Given the description of an element on the screen output the (x, y) to click on. 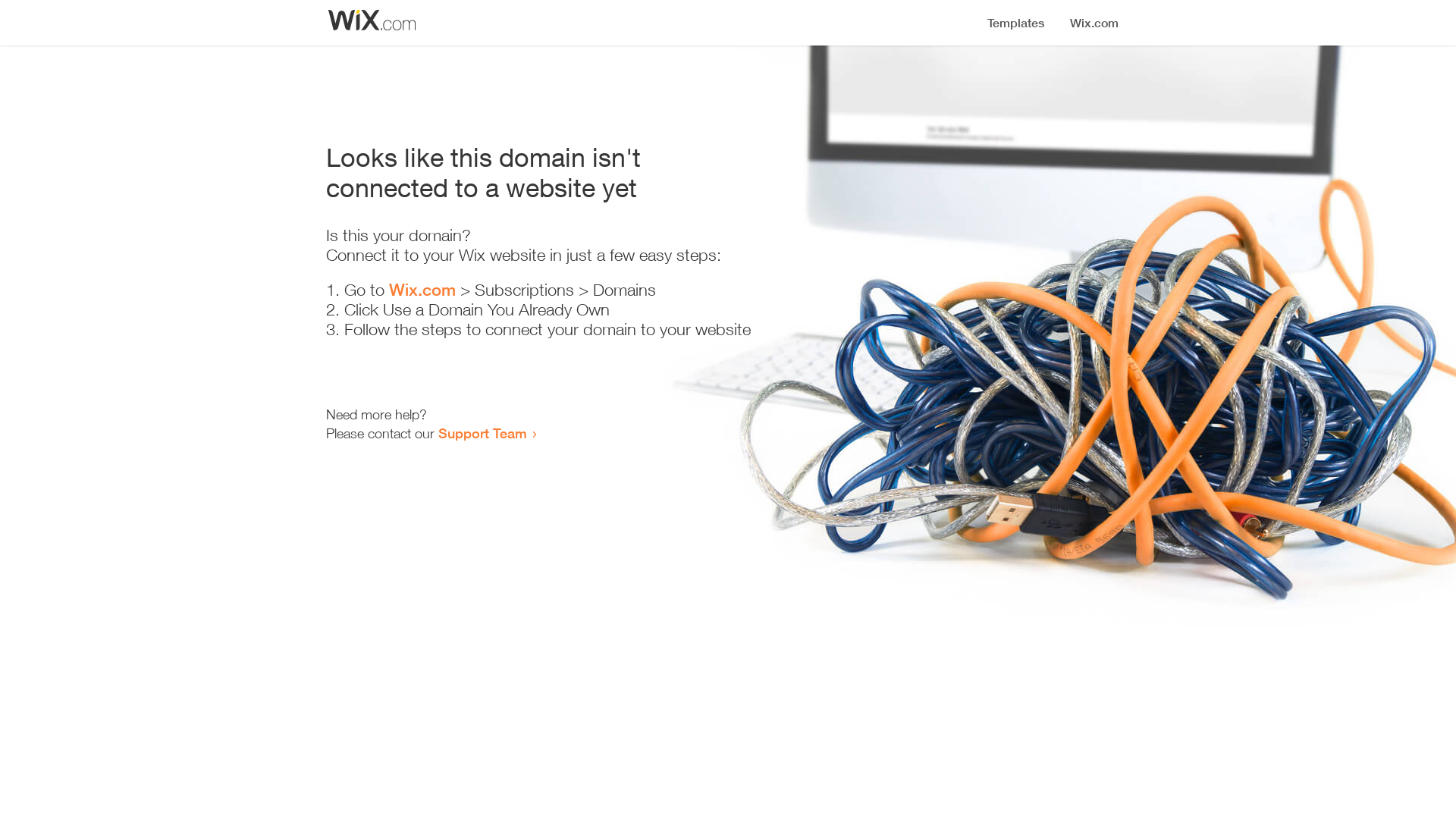
Wix.com Element type: text (422, 289)
Support Team Element type: text (482, 432)
